Given the description of an element on the screen output the (x, y) to click on. 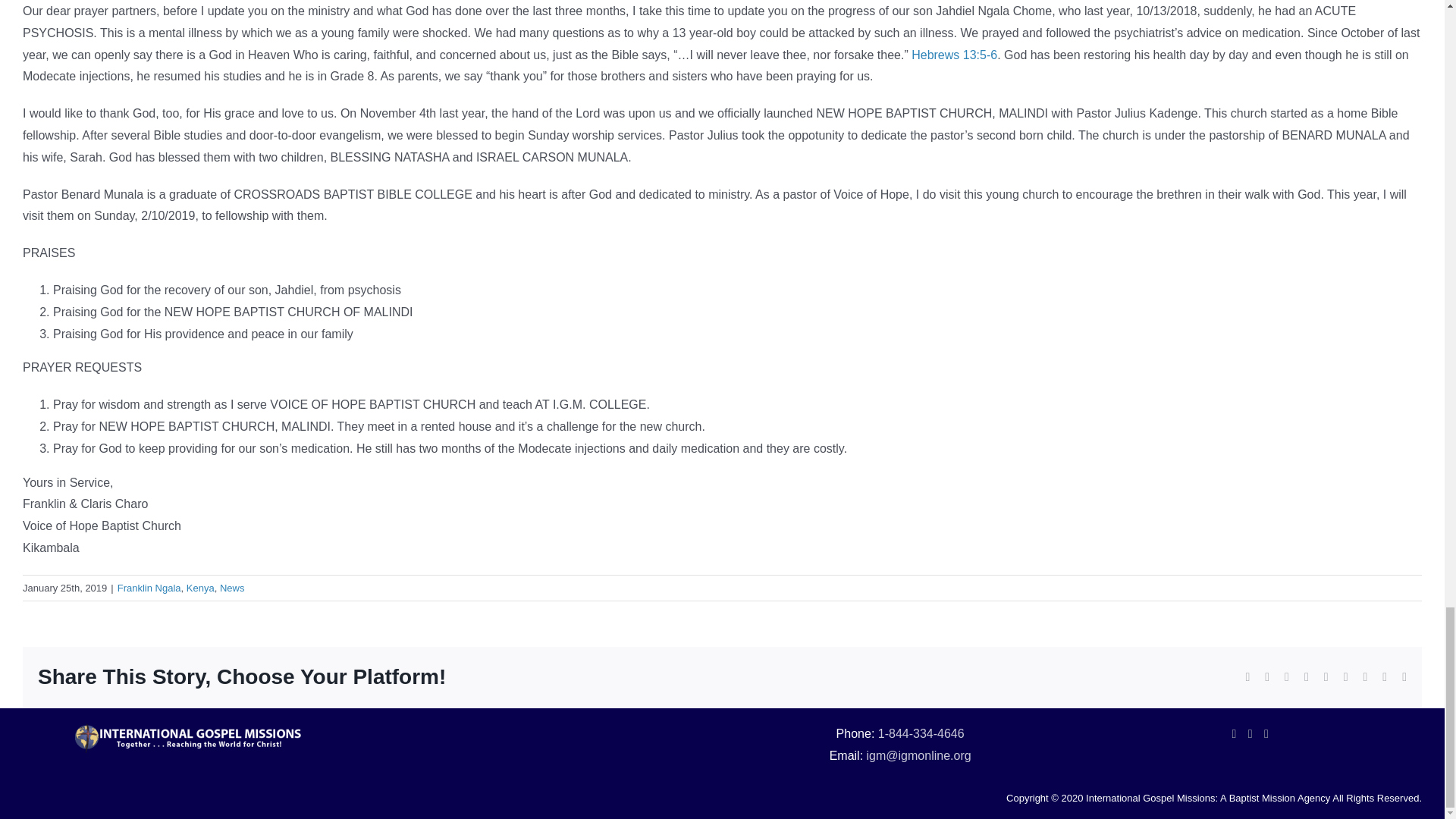
Hebrews 13:5-6 (954, 54)
Kenya (200, 587)
News (231, 587)
Franklin Ngala (148, 587)
